Given the description of an element on the screen output the (x, y) to click on. 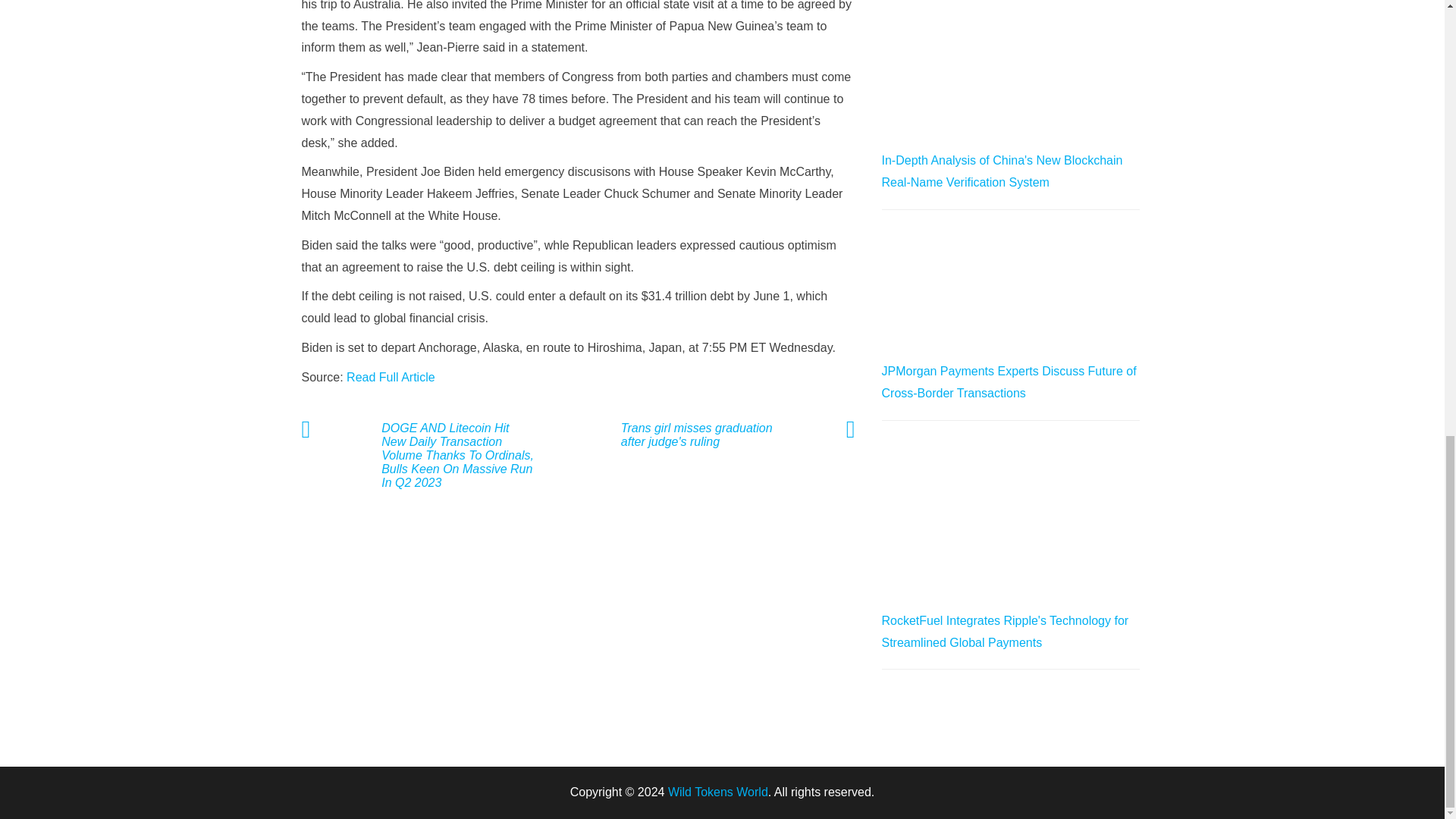
Read Full Article (390, 377)
Trans girl misses graduation after judge's ruling (693, 434)
Wild Tokens World (718, 791)
